Given the description of an element on the screen output the (x, y) to click on. 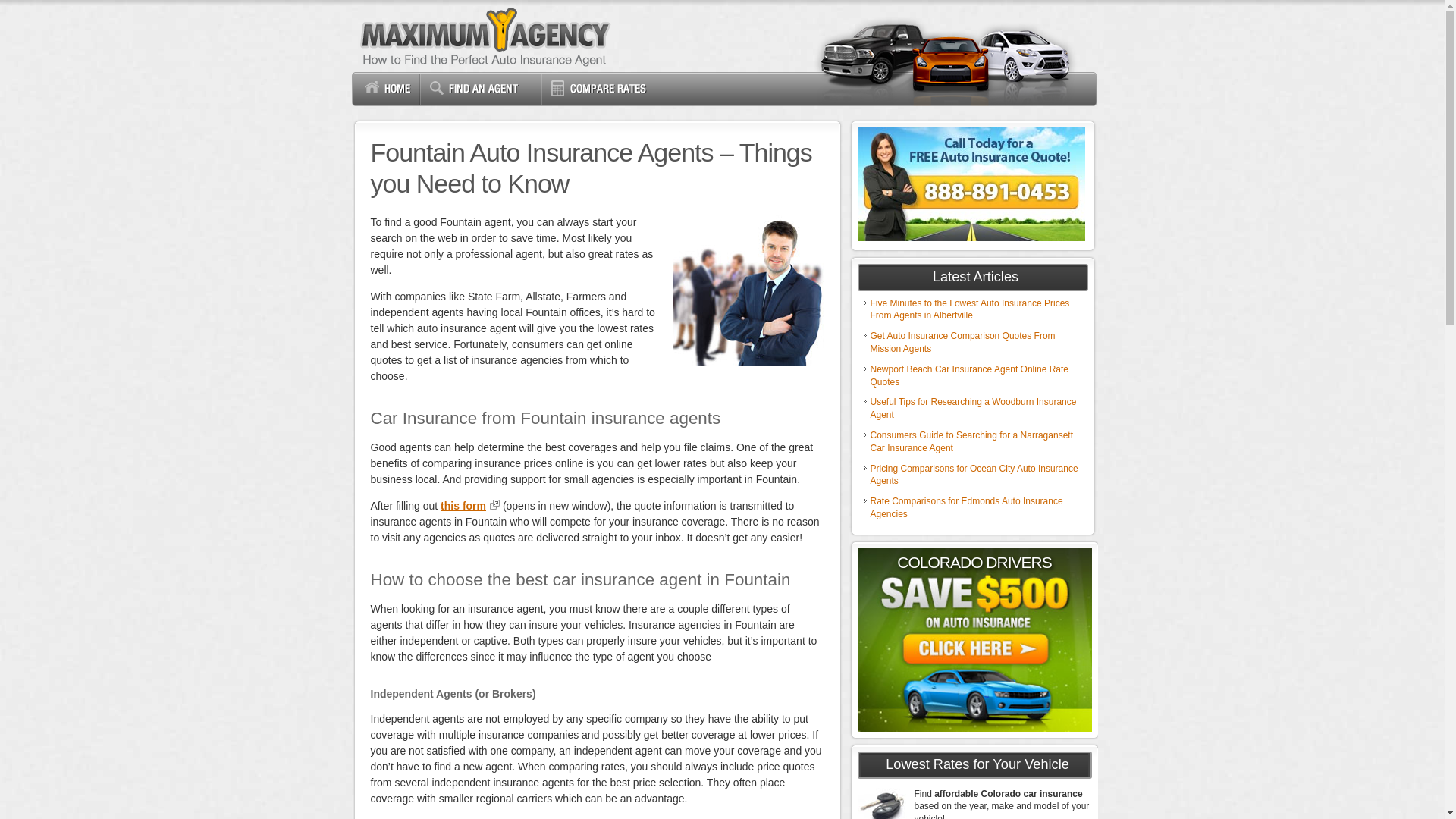
this form (470, 505)
Get Auto Insurance Comparison Quotes From Mission Agents (962, 341)
Pricing Comparisons for Ocean City Auto Insurance Agents (974, 474)
Useful Tips for Researching a Woodburn Insurance Agent (973, 408)
Rate Comparisons for Edmonds Auto Insurance Agencies (966, 507)
Newport Beach Car Insurance Agent Online Rate Quotes (969, 375)
